Given the description of an element on the screen output the (x, y) to click on. 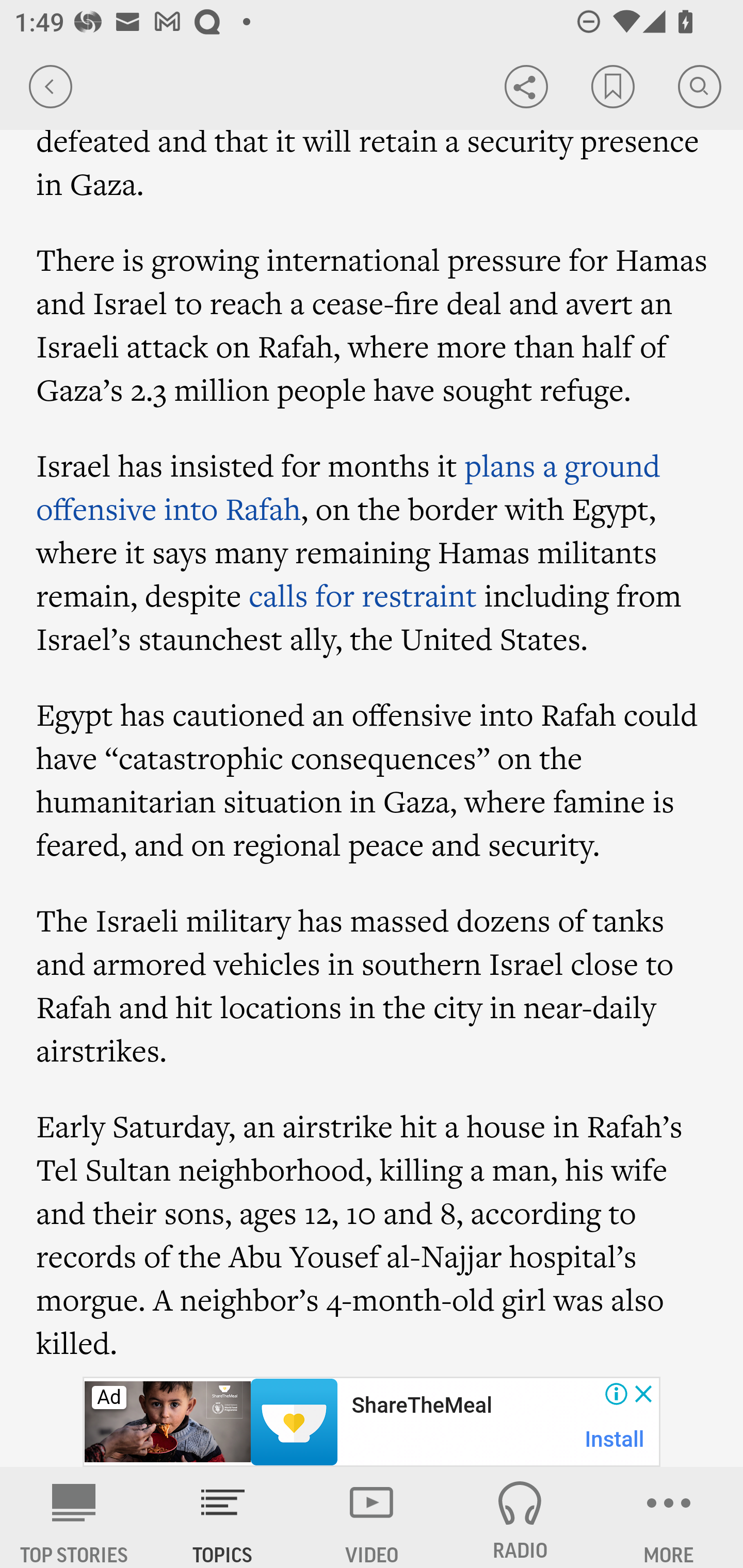
plans a ground offensive into Rafah (348, 486)
calls for restraint (362, 594)
ShareTheMeal (420, 1405)
Install (614, 1438)
AP News TOP STORIES (74, 1517)
TOPICS (222, 1517)
VIDEO (371, 1517)
RADIO (519, 1517)
MORE (668, 1517)
